Given the description of an element on the screen output the (x, y) to click on. 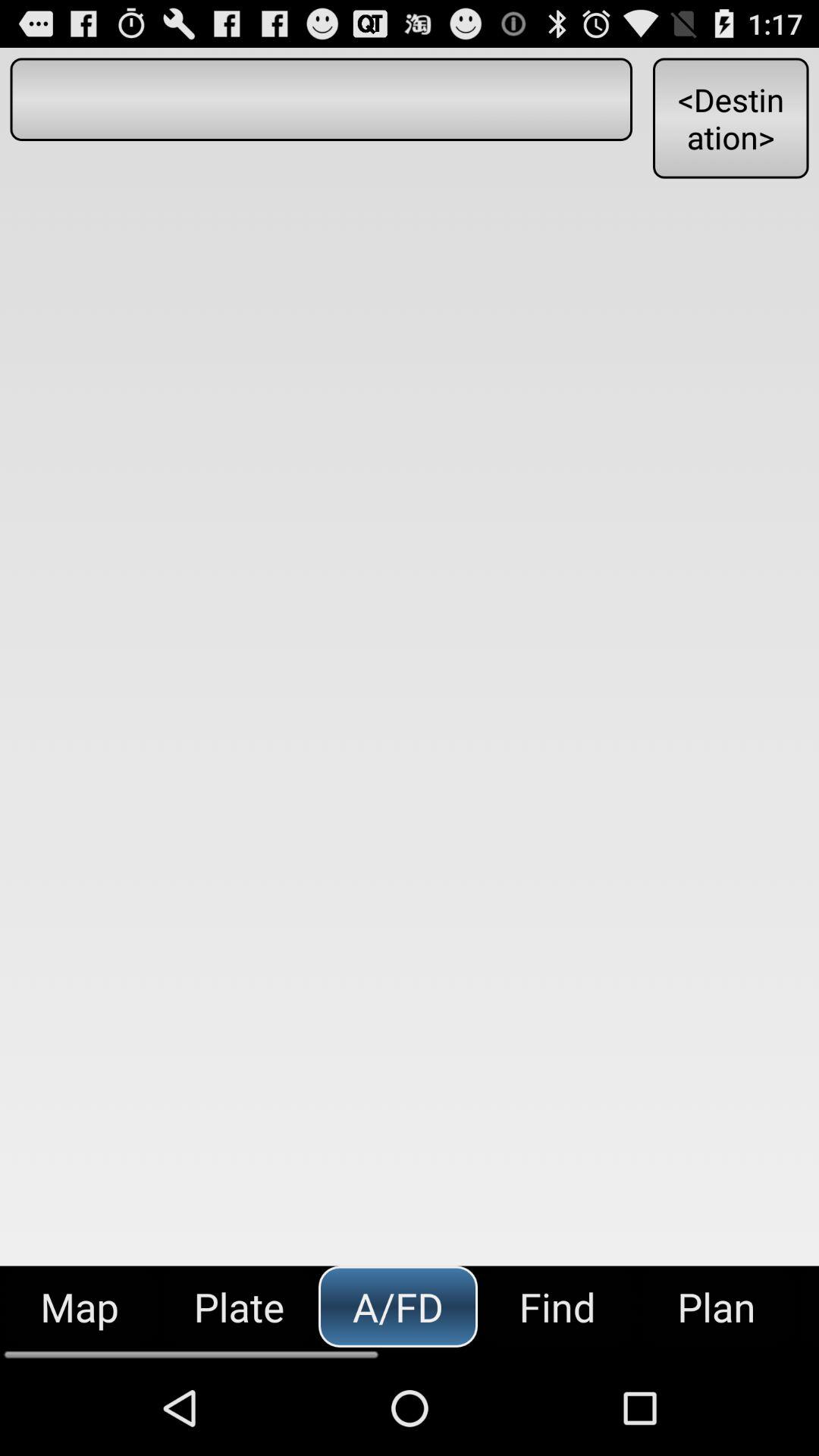
swipe to <destination> button (730, 118)
